Given the description of an element on the screen output the (x, y) to click on. 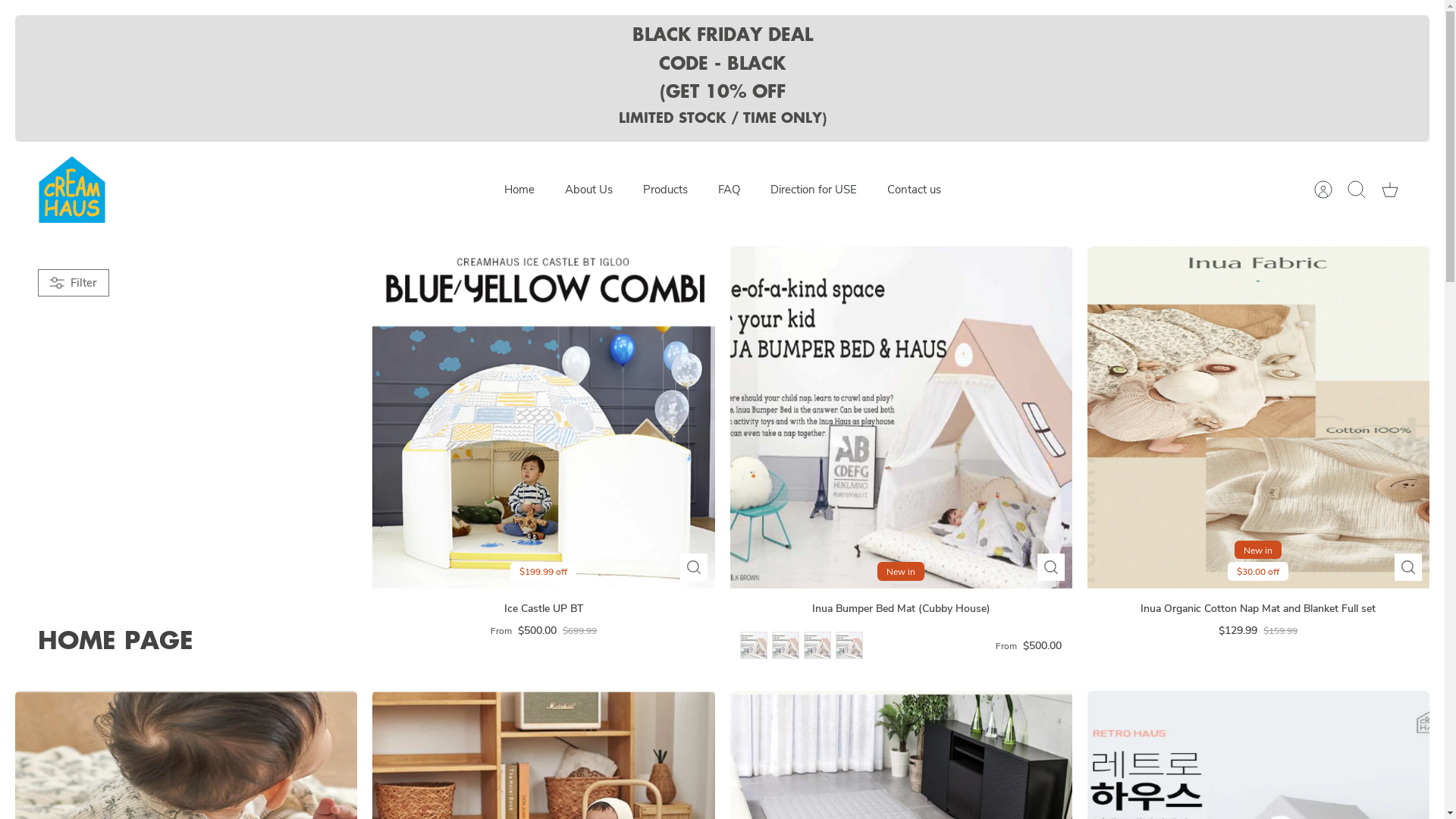
Filter Element type: text (73, 282)
About Us Element type: text (587, 188)
Account Element type: text (1322, 189)
Home Element type: text (518, 188)
CreamHaus AUSTRALIA Element type: hover (71, 189)
Contact us Element type: text (913, 188)
Search Element type: text (1356, 189)
New in Element type: text (900, 417)
Ice Castle UP BT Element type: text (542, 608)
FAQ Element type: text (728, 188)
Inua Bumper Bed Mat (Cubby House) Element type: text (900, 608)
New in
$30.00 off Element type: text (1258, 417)
Products Element type: text (665, 188)
Direction for USE Element type: text (813, 188)
$199.99 off Element type: text (543, 417)
Inua Organic Cotton Nap Mat and Blanket Full set Element type: text (1258, 608)
Cart Element type: text (1389, 189)
